Given the description of an element on the screen output the (x, y) to click on. 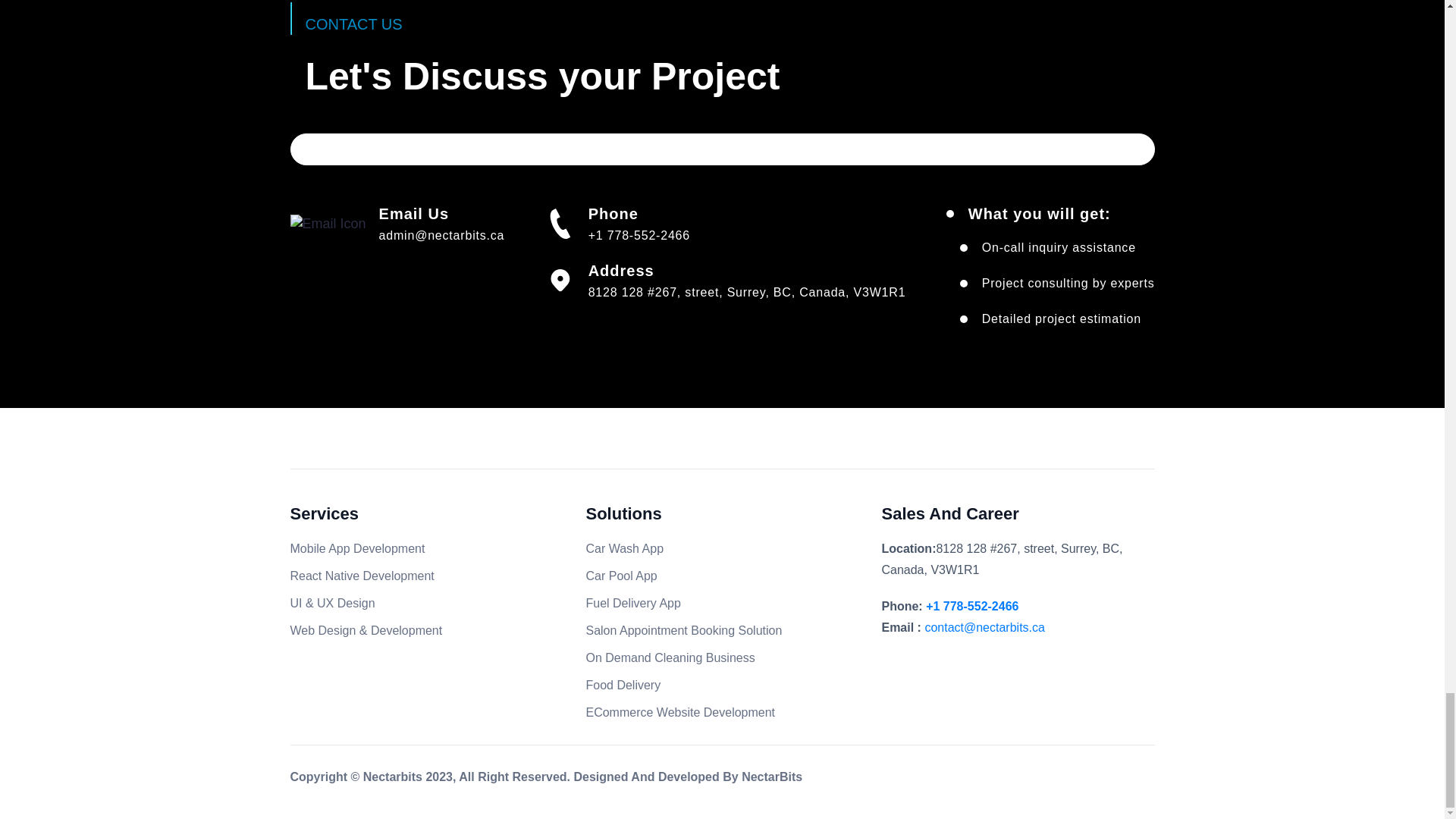
Mobile App Development (357, 548)
YouTube (1069, 780)
Car Wash App (624, 548)
Twitter (972, 780)
Car Pool App (620, 575)
React Native Development (361, 575)
Fuel Delivery App (632, 603)
Instagram (1004, 780)
Dribble (1101, 780)
Facebook (941, 780)
LinkedIn (1037, 780)
